Given the description of an element on the screen output the (x, y) to click on. 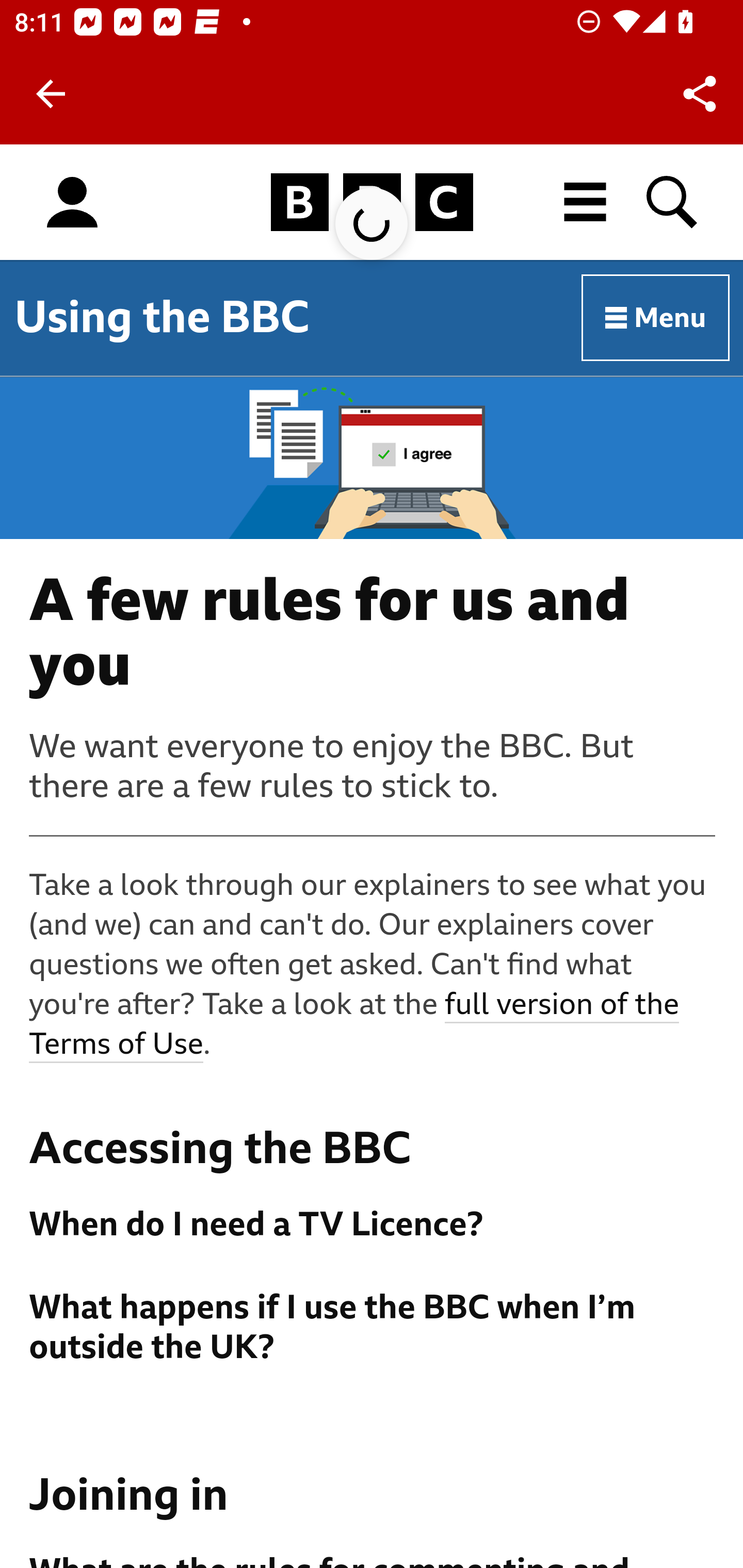
Back (50, 93)
Share (699, 93)
All BBC destinations menu (585, 202)
Search BBC (672, 202)
Sign in (71, 203)
Homepage (371, 203)
Menu (656, 318)
Using the BBC (162, 317)
full version of the Terms of Use (354, 1025)
When do I need a TV Licence? (372, 1224)
